Given the description of an element on the screen output the (x, y) to click on. 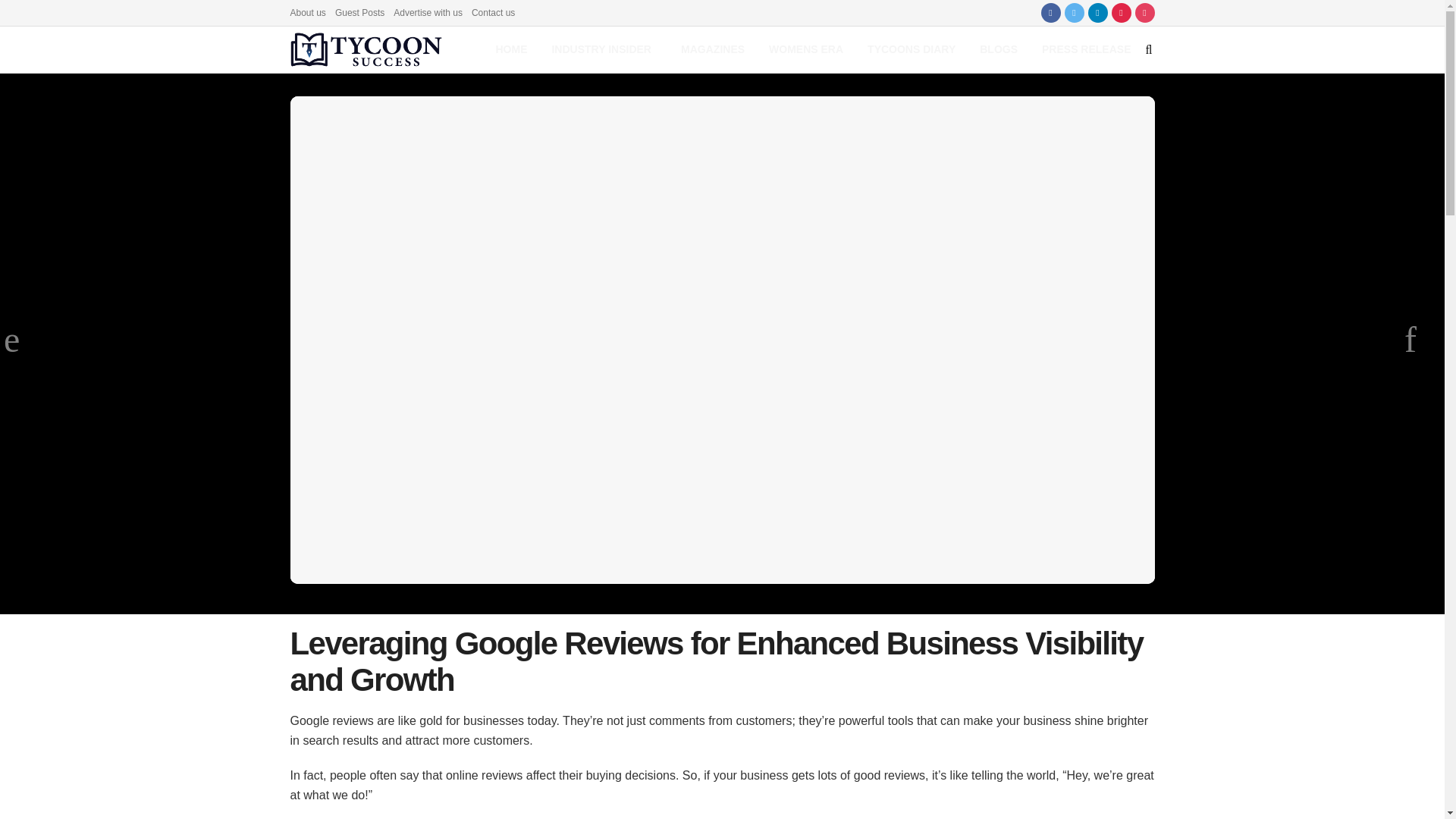
Guest Posts (359, 12)
Advertise with us (428, 12)
WOMENS ERA (806, 49)
Contact us (493, 12)
About us (306, 12)
PRESS RELEASE (1085, 49)
HOME (510, 49)
MAGAZINES (712, 49)
BLOGS (998, 49)
TYCOONS DIARY (912, 49)
